Given the description of an element on the screen output the (x, y) to click on. 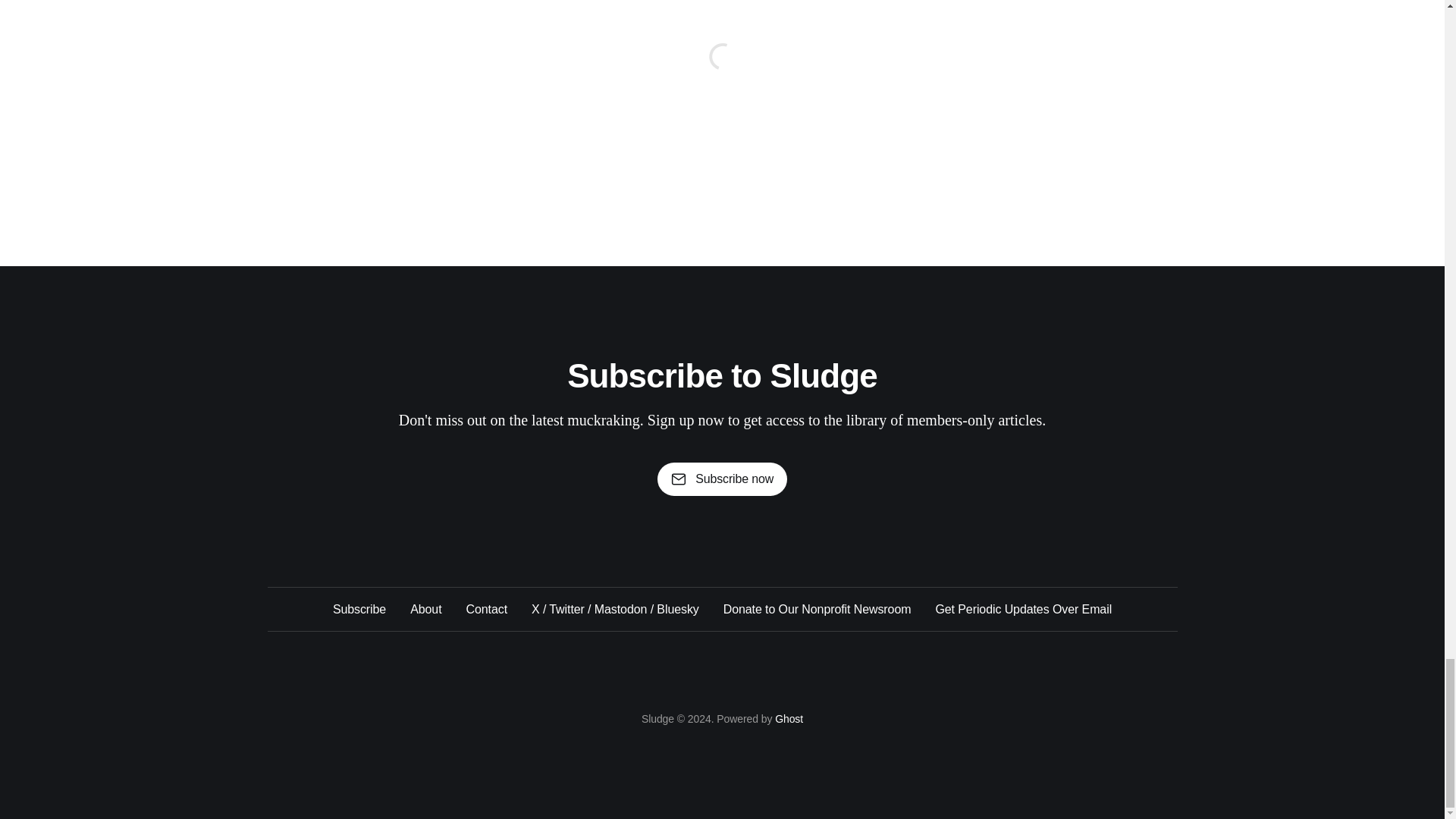
Contact (485, 609)
comments-frame (721, 74)
Ghost (788, 718)
Donate to Our Nonprofit Newsroom (817, 609)
About (425, 609)
Get Periodic Updates Over Email (1023, 609)
Subscribe (359, 609)
Subscribe now (722, 479)
